Given the description of an element on the screen output the (x, y) to click on. 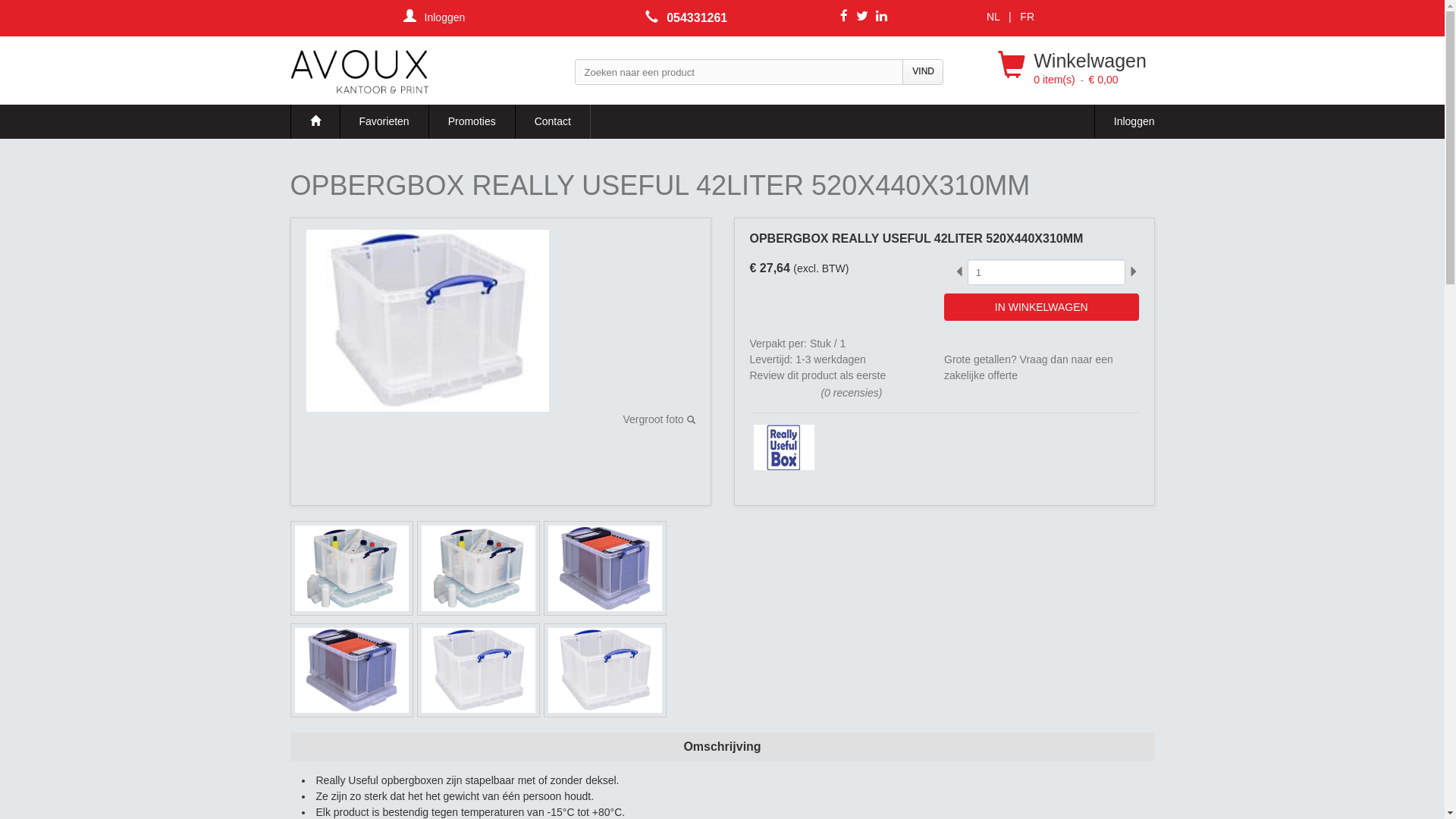
VIND Element type: text (922, 71)
phone Element type: hover (655, 17)
Favorieten Element type: text (383, 121)
(0 recensies) Element type: text (850, 392)
FR Element type: text (1026, 16)
zakelijke offerte Element type: text (980, 375)
IN WINKELWAGEN Element type: text (1041, 306)
Vergroot foto Element type: text (658, 419)
Zoeken naar een product Element type: hover (738, 71)
Contact Element type: text (552, 121)
NL Element type: text (992, 16)
Inloggen Element type: text (434, 17)
Promoties Element type: text (471, 121)
Review dit product als eerste Element type: text (817, 375)
Inloggen Element type: text (1124, 121)
